Given the description of an element on the screen output the (x, y) to click on. 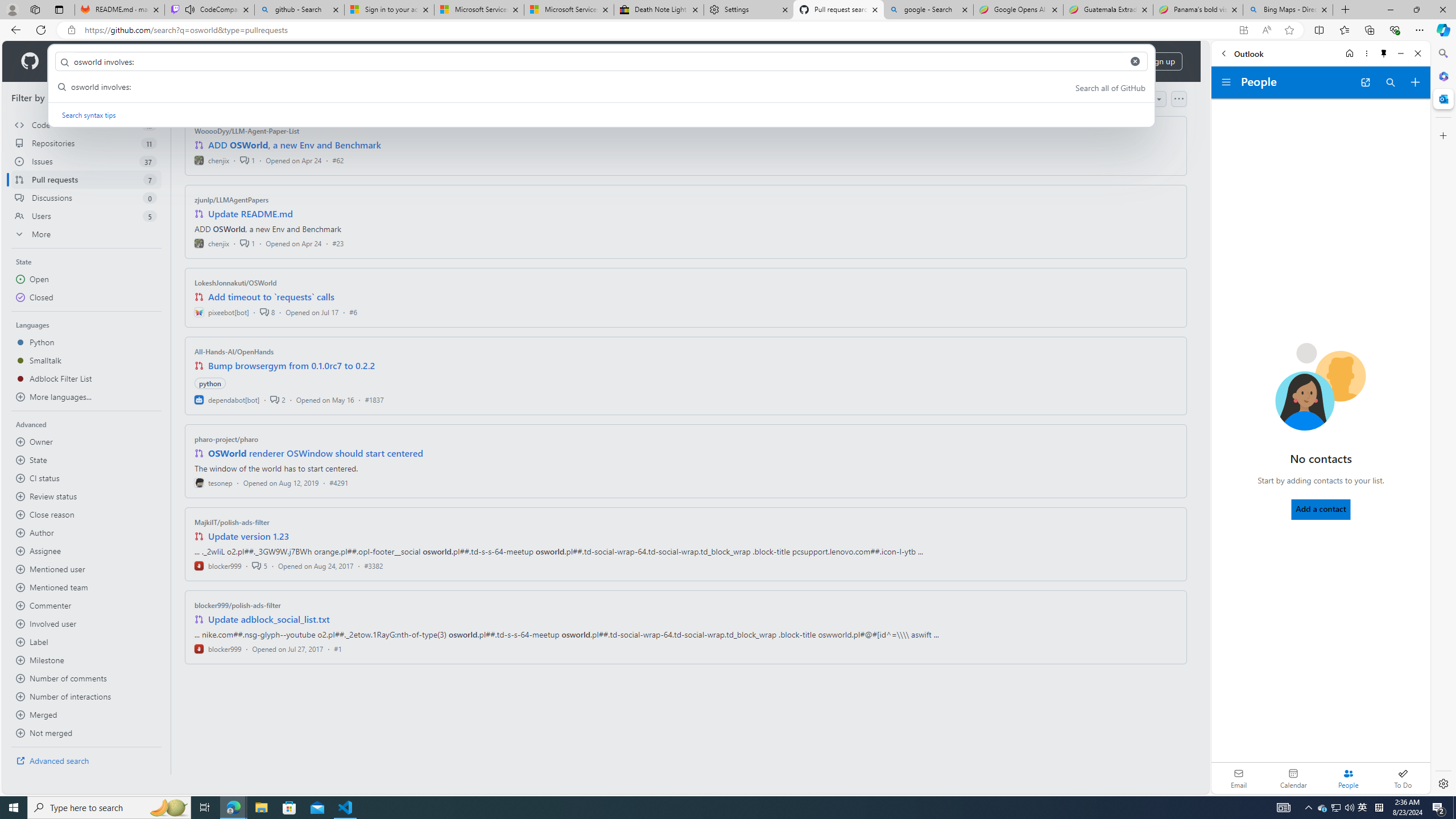
Bump browsergym from 0.1.0rc7 to 0.2.2 (291, 365)
Solutions (128, 60)
Pricing (368, 60)
blocker999 (218, 648)
Advanced search (86, 760)
App available. Install GitHub (1243, 29)
Update version 1.23 (248, 535)
